Given the description of an element on the screen output the (x, y) to click on. 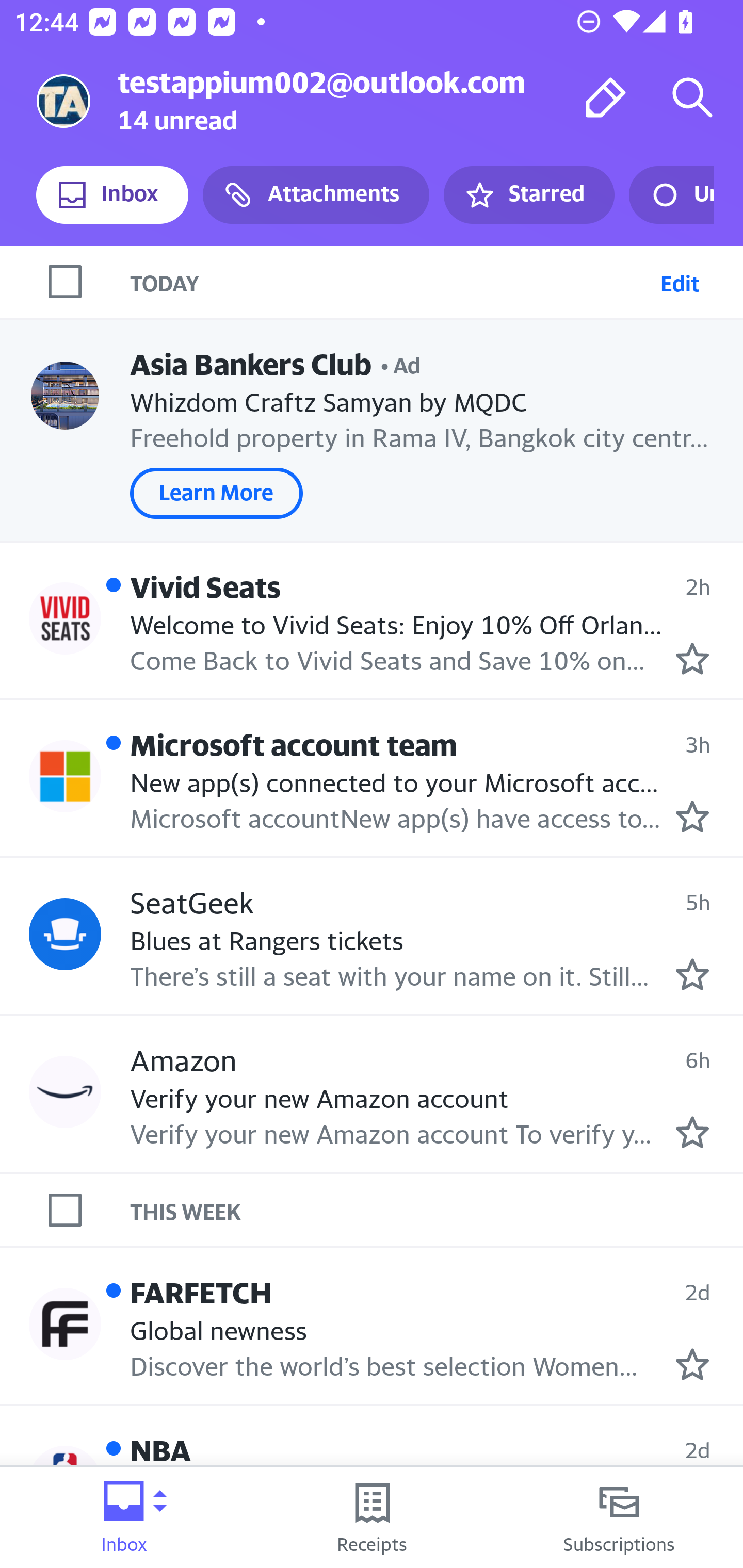
Compose (605, 97)
Search mail (692, 97)
Attachments (315, 195)
Starred (528, 195)
TODAY (391, 281)
Edit Select emails (679, 281)
Profile
Vivid Seats (64, 617)
Mark as starred. (692, 659)
Profile
Microsoft account team (64, 776)
Mark as starred. (692, 816)
Profile
SeatGeek (64, 934)
Mark as starred. (692, 974)
Profile
Amazon (64, 1091)
Mark as starred. (692, 1132)
THIS WEEK (436, 1209)
Profile
FARFETCH (64, 1323)
Mark as starred. (692, 1364)
Inbox Folder picker (123, 1517)
Receipts (371, 1517)
Subscriptions (619, 1517)
